Given the description of an element on the screen output the (x, y) to click on. 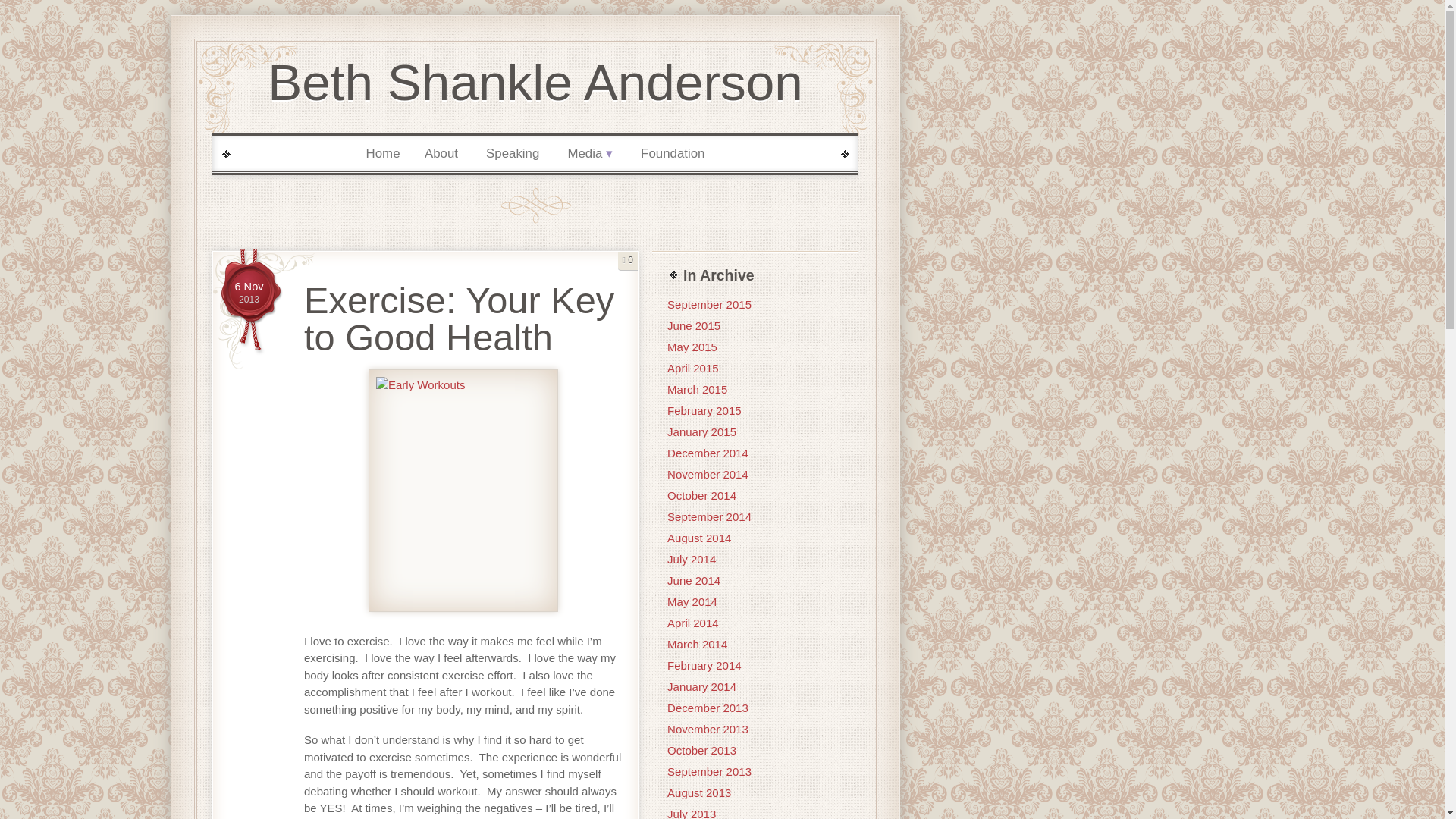
August 2014 (698, 537)
Home (381, 154)
Speaking (512, 154)
June 2015 (693, 325)
Beth Shankle Anderson (535, 82)
September 2015 (708, 304)
January 2015 (701, 431)
April 2015 (692, 367)
Beth Shankle Anderson (535, 82)
October 2014 (701, 495)
March 2015 (248, 292)
4:30 am (696, 389)
September 2014 (248, 292)
July 2014 (708, 516)
